Given the description of an element on the screen output the (x, y) to click on. 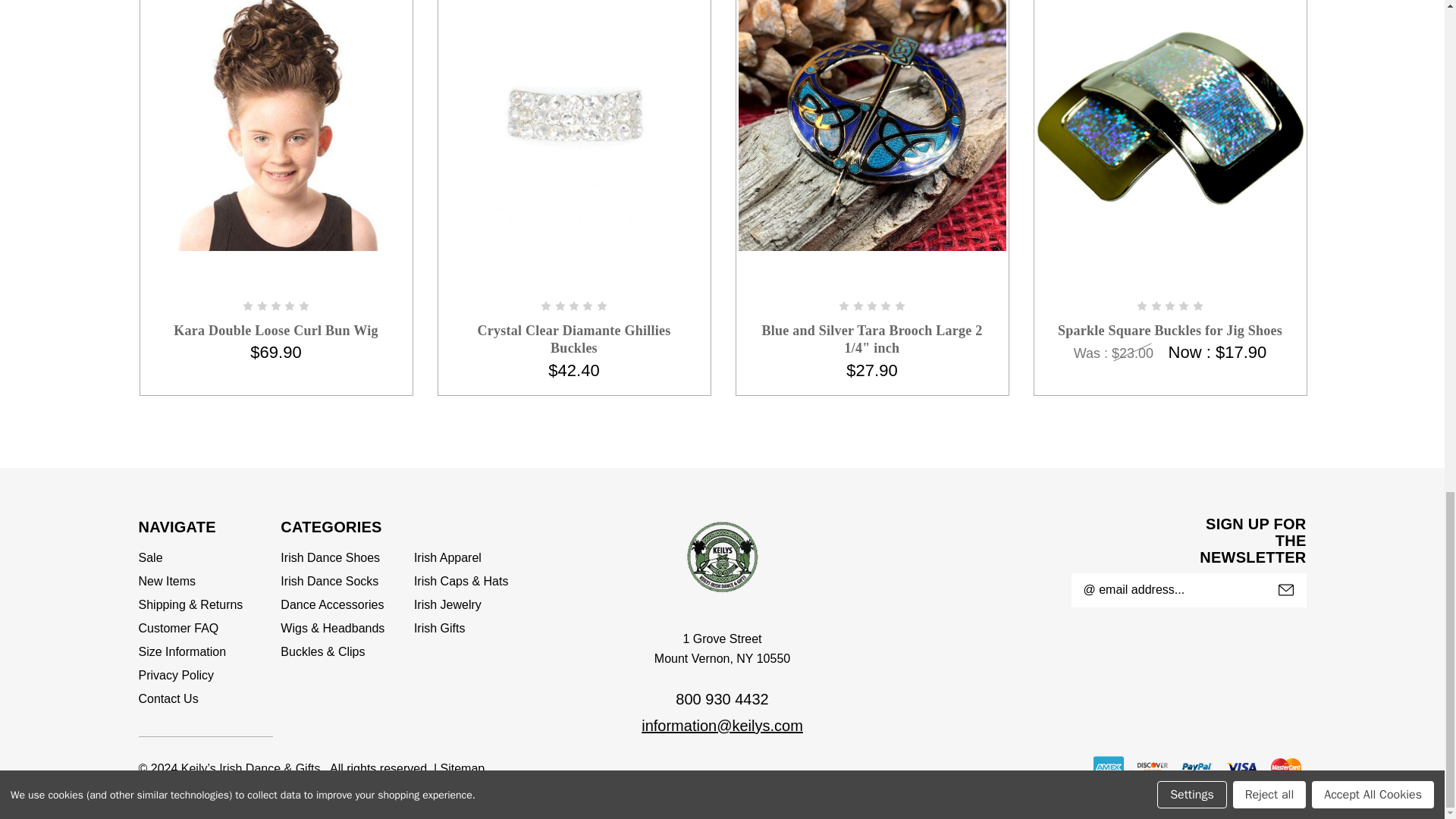
Kara Double Loose Curl Bun Wig Keilys.com (276, 125)
TT7554-BLUE Brooch In Blue and Silver Colour On Keilys.com (872, 125)
Crystal Clear Diamante Ghillies Buckles Keilys.com (573, 125)
Sparkle Square Buckles for Jig Shoes Keilys.com (1169, 125)
